Given the description of an element on the screen output the (x, y) to click on. 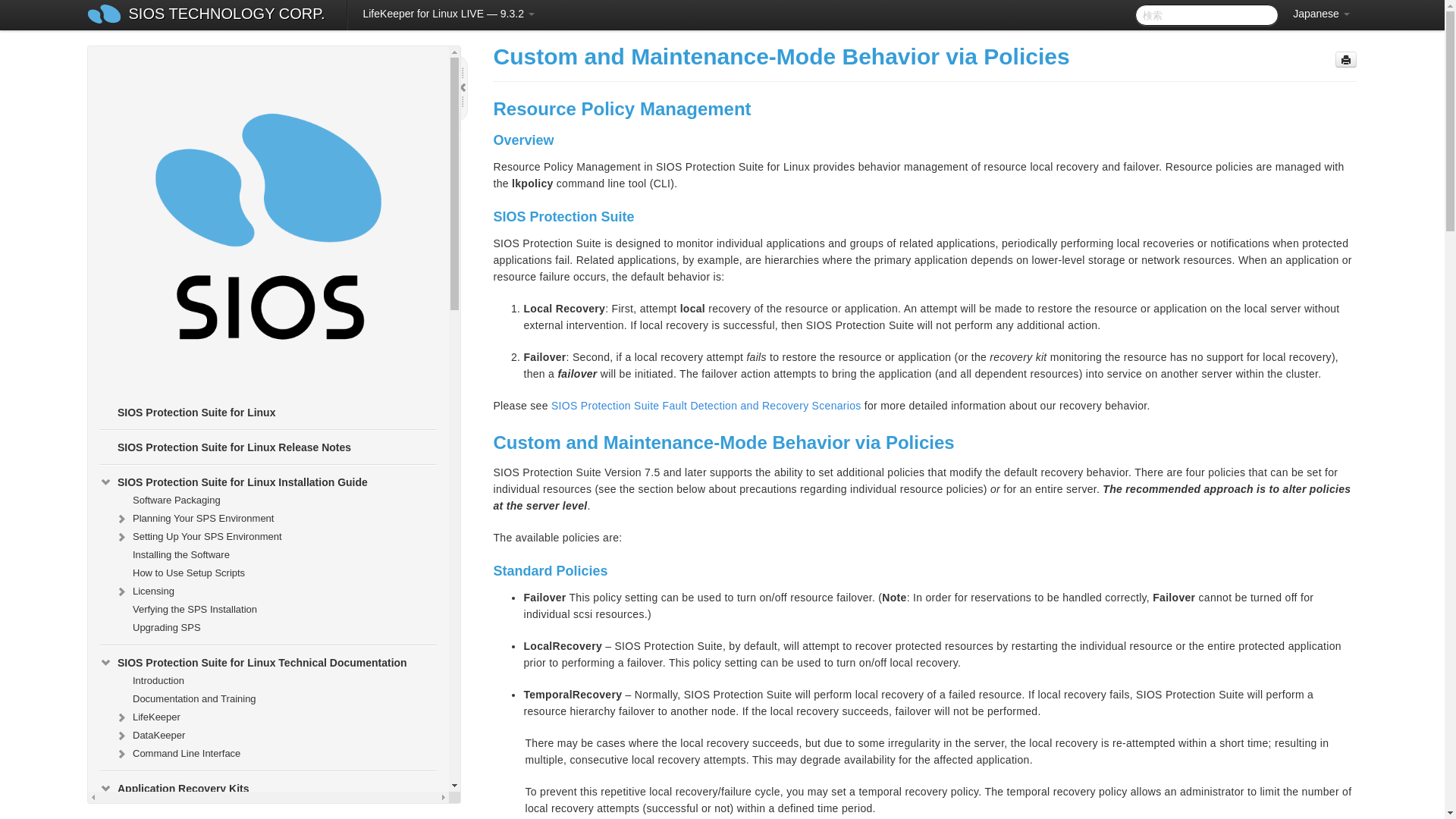
SIOS TECHNOLOGY CORP. (226, 15)
Japanese (1320, 14)
